Given the description of an element on the screen output the (x, y) to click on. 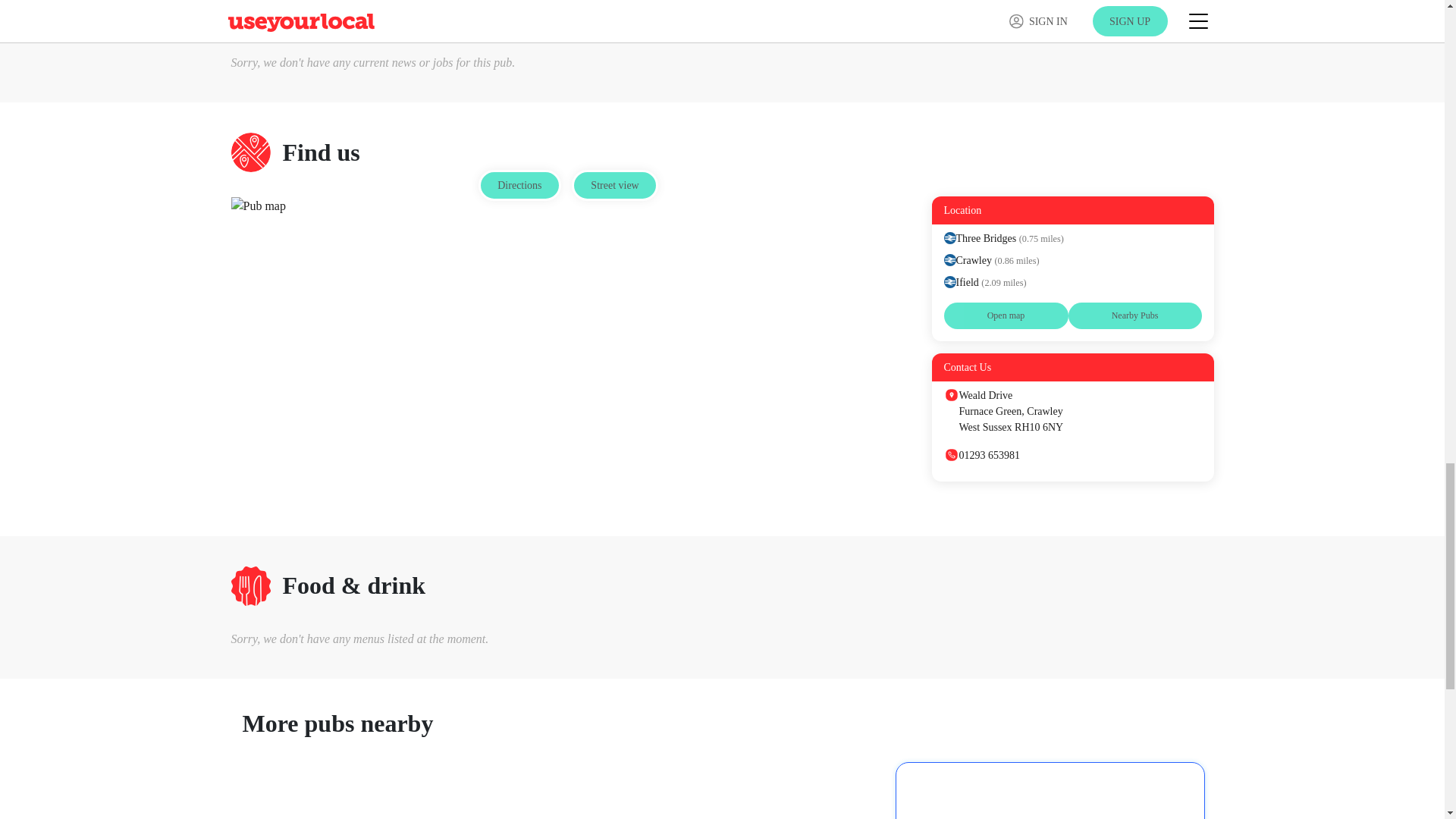
National Rail (949, 282)
National Rail (949, 237)
National Rail (949, 259)
